Given the description of an element on the screen output the (x, y) to click on. 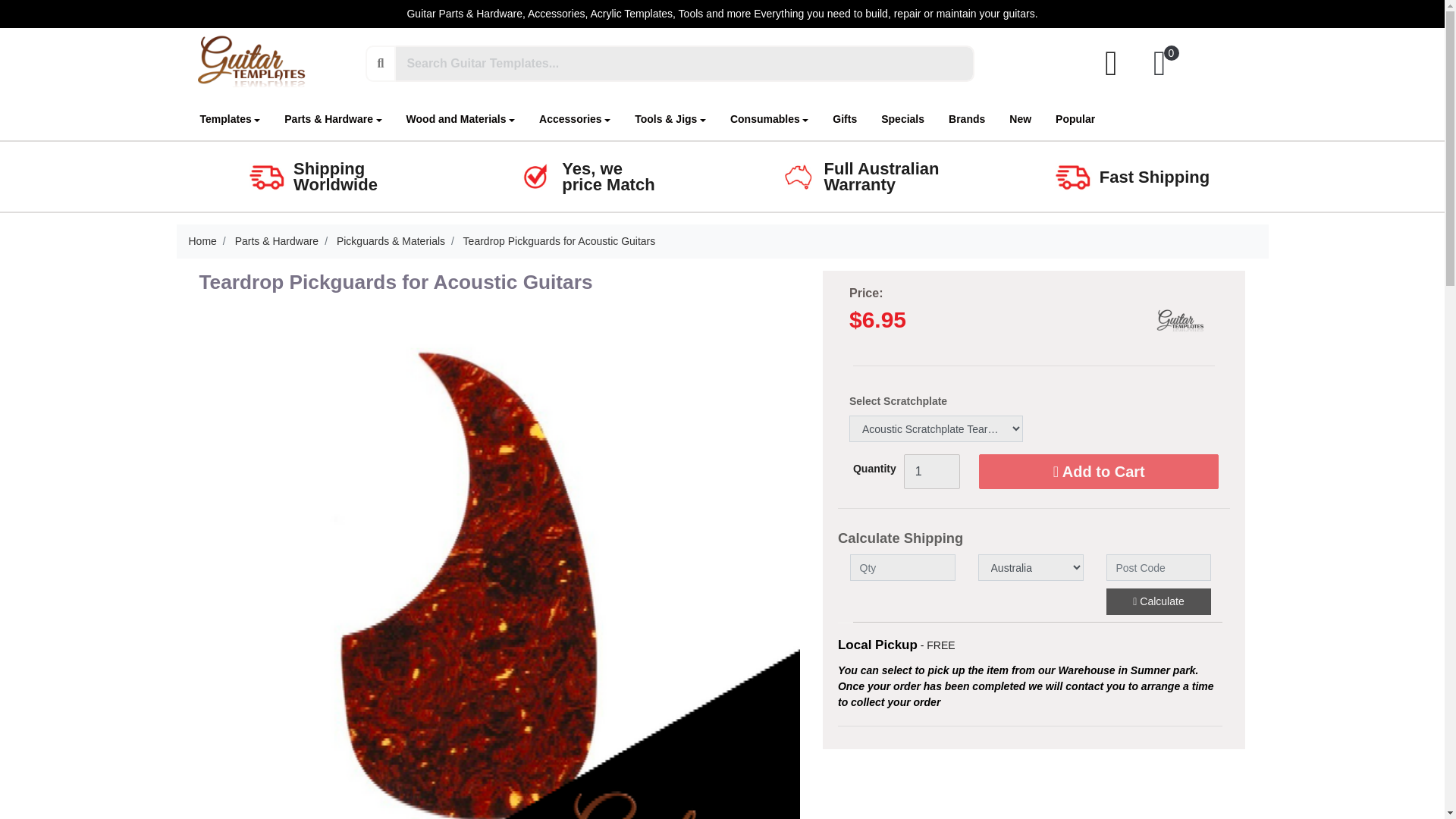
Calculate (1158, 601)
Templates (230, 119)
Guitar Templates (251, 62)
Guitar Templates (1180, 323)
1 (931, 471)
